Given the description of an element on the screen output the (x, y) to click on. 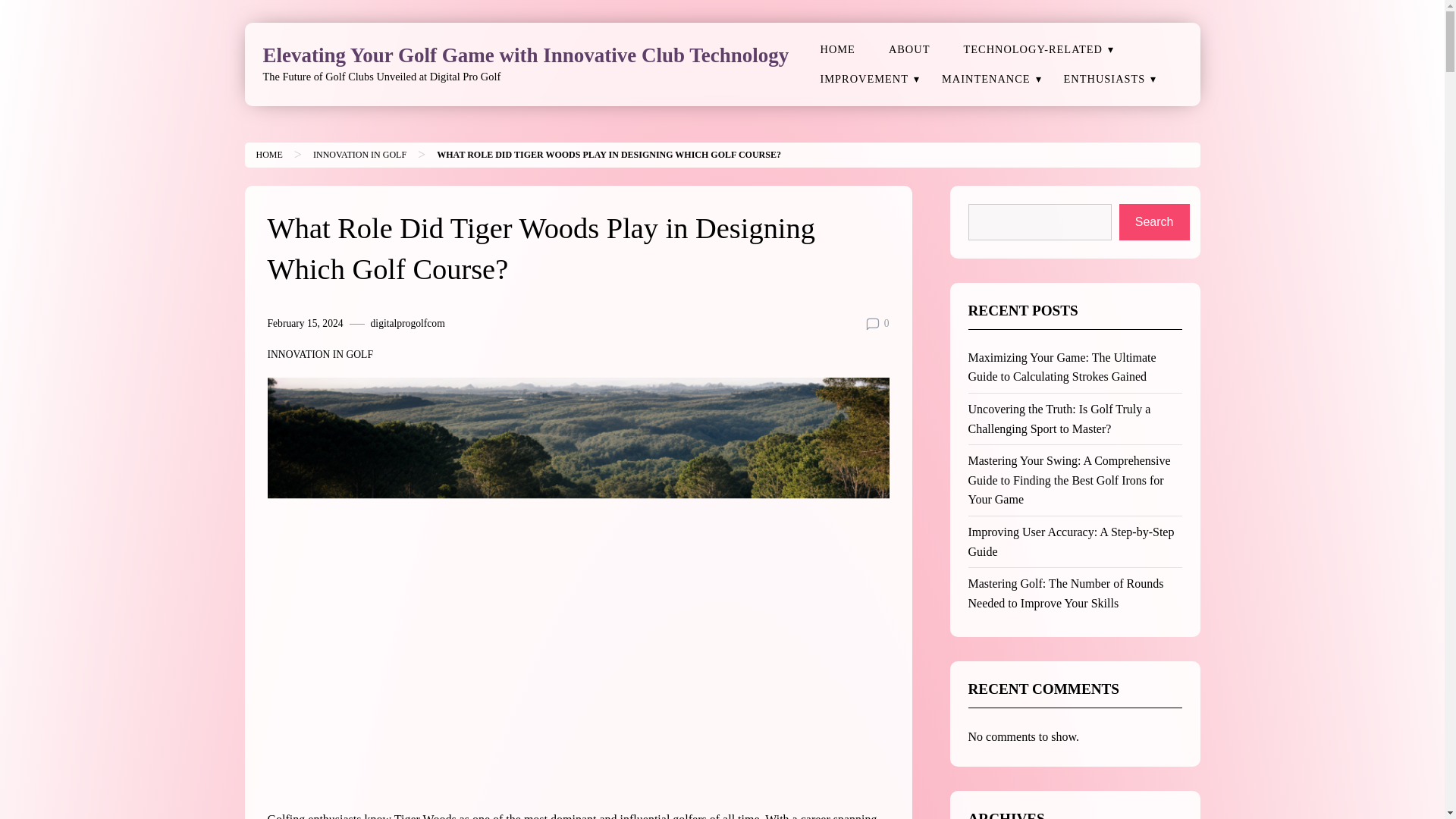
ABOUT (908, 49)
Elevating Your Golf Game with Innovative Club Technology (525, 55)
INNOVATION IN GOLF (359, 154)
IMPROVEMENT (864, 79)
Home (269, 154)
INNOVATION IN GOLF (319, 354)
HOME (837, 49)
HOME (269, 154)
February 15, 2024 (304, 323)
